Given the description of an element on the screen output the (x, y) to click on. 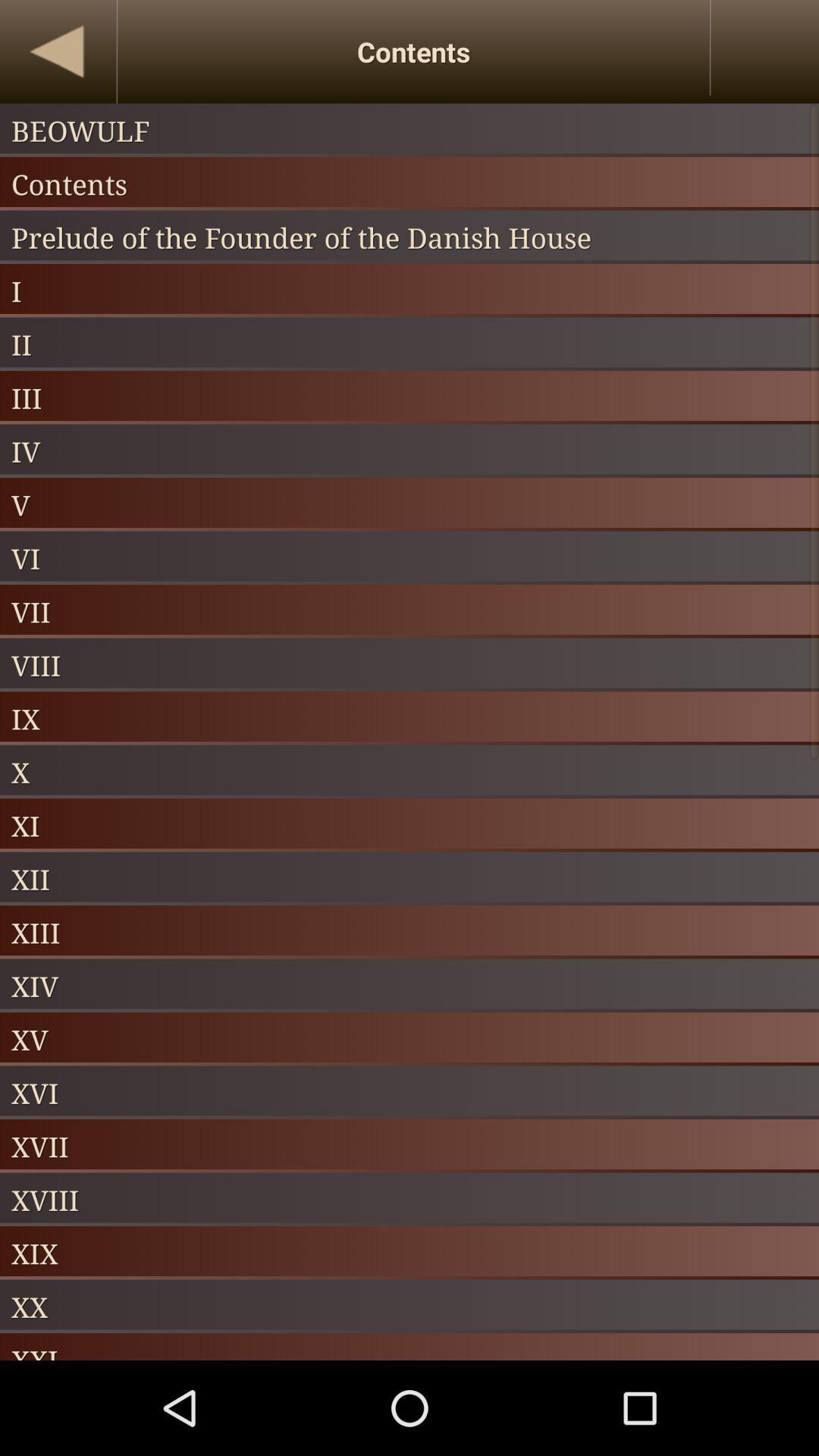
open app below vi (409, 611)
